Given the description of an element on the screen output the (x, y) to click on. 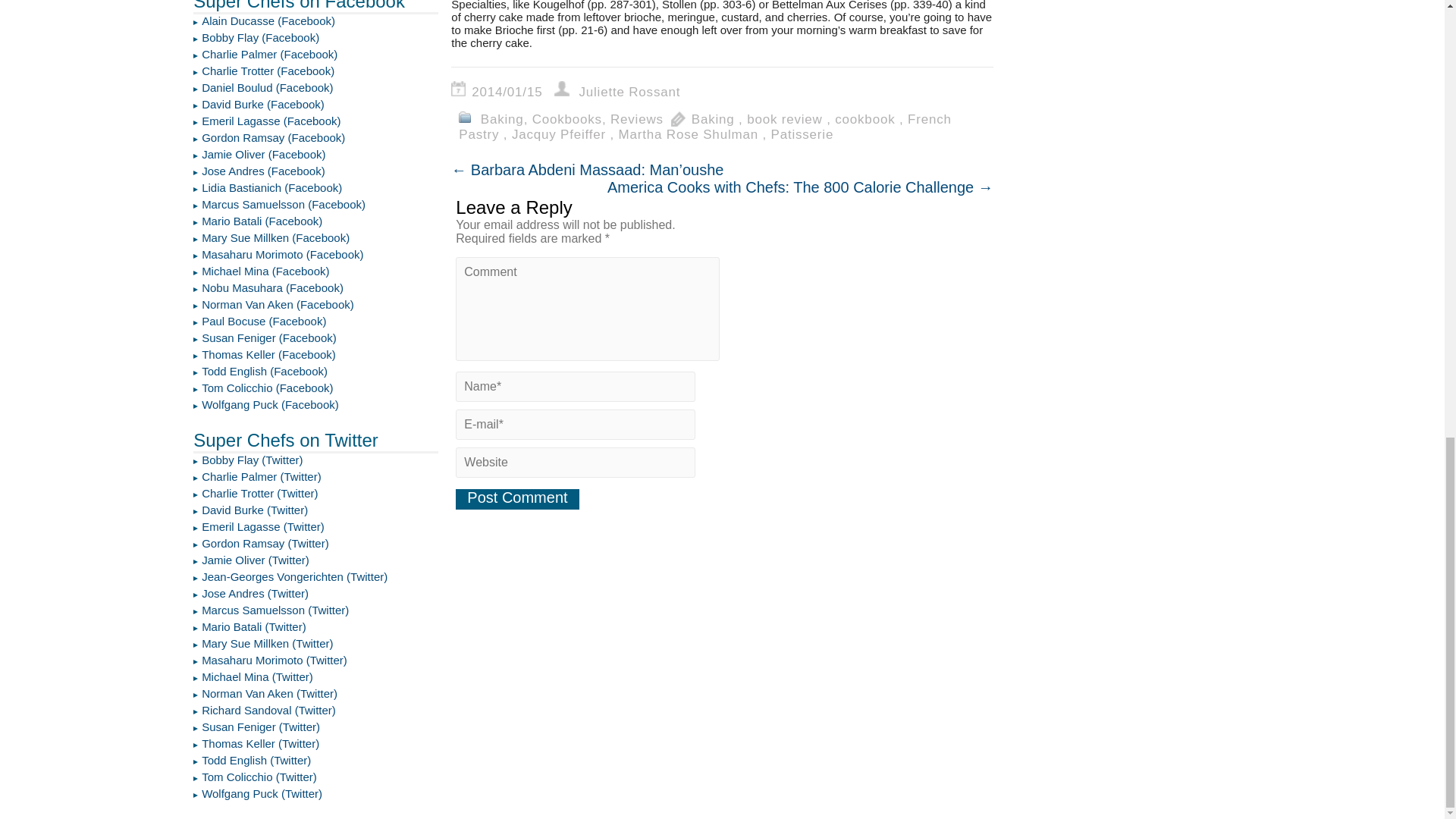
Post Comment (516, 498)
View all posts by Juliette Rossant (628, 92)
09:15 (510, 92)
